Given the description of an element on the screen output the (x, y) to click on. 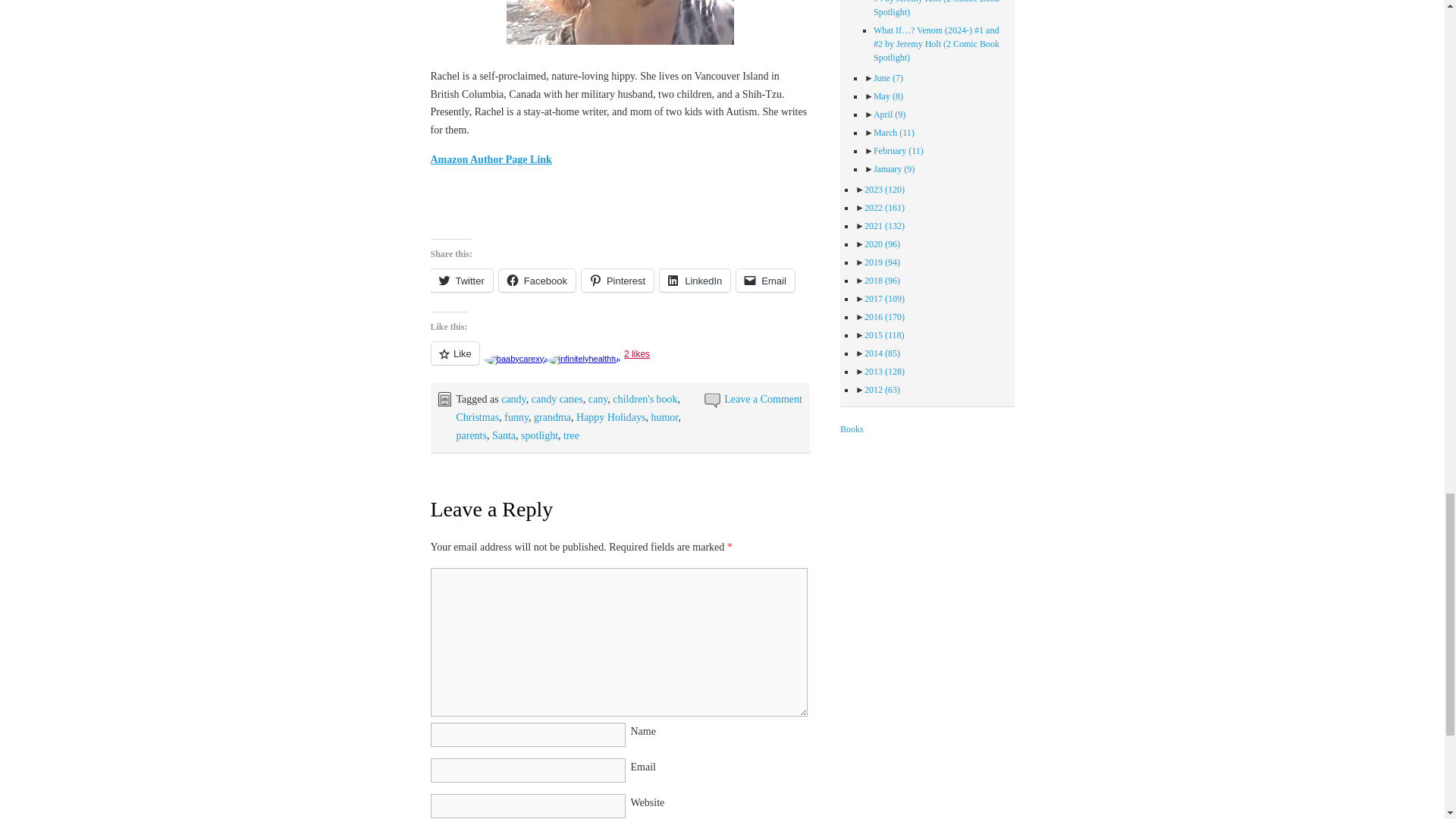
Click to share on LinkedIn (694, 280)
LinkedIn (694, 280)
Happy Holidays (610, 417)
Click to email a link to a friend (765, 280)
Amazon Author Page Link (490, 159)
Facebook (537, 280)
Twitter (461, 280)
Santa (503, 435)
Pinterest (616, 280)
spotlight (539, 435)
children's book (644, 398)
grandma (552, 417)
Click to share on Facebook (537, 280)
cany (598, 398)
Like or Reblog (619, 362)
